Given the description of an element on the screen output the (x, y) to click on. 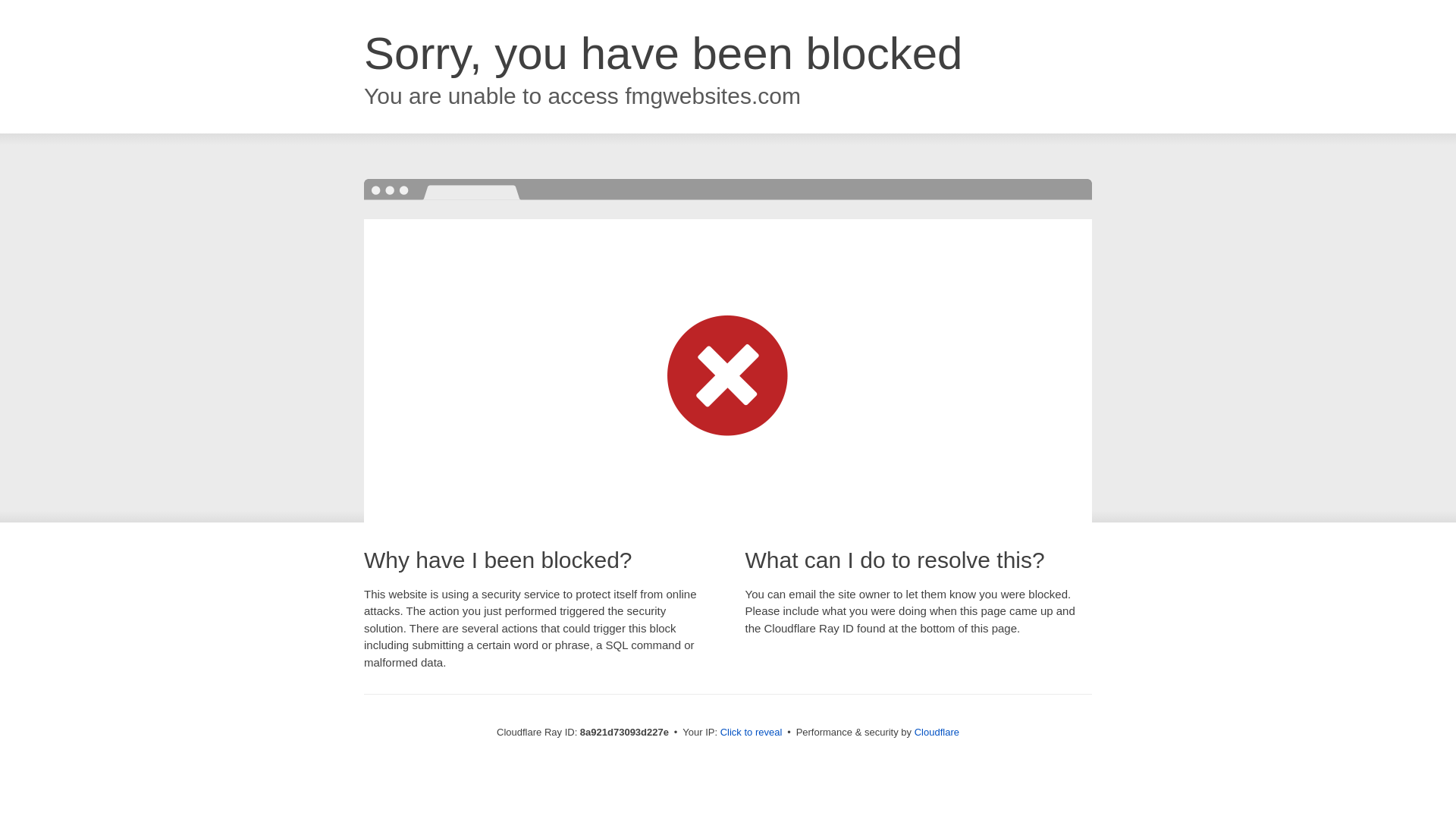
Cloudflare (936, 731)
Click to reveal (751, 732)
